Given the description of an element on the screen output the (x, y) to click on. 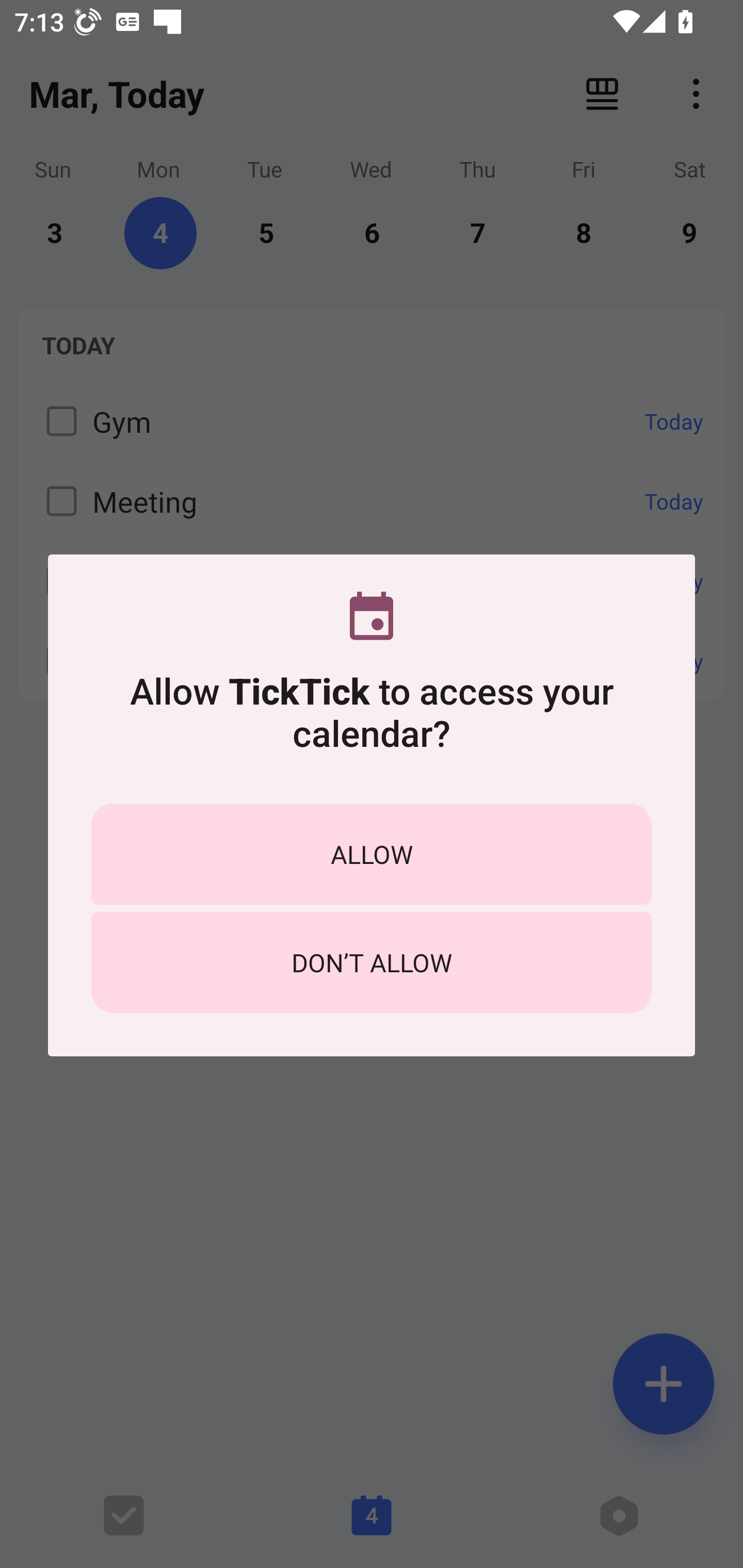
ALLOW (371, 853)
DON’T ALLOW (371, 962)
